Given the description of an element on the screen output the (x, y) to click on. 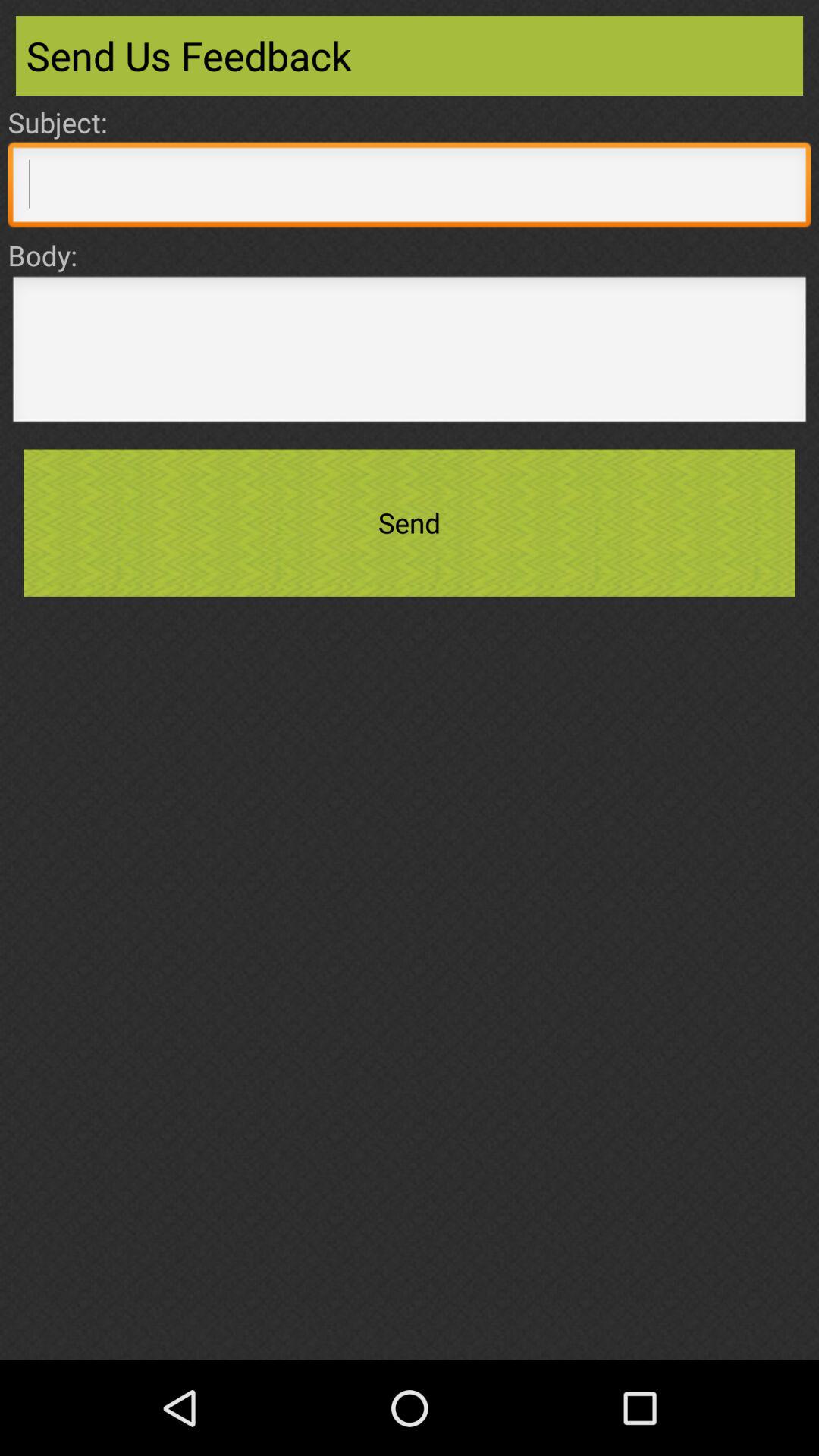
text content (409, 353)
